Given the description of an element on the screen output the (x, y) to click on. 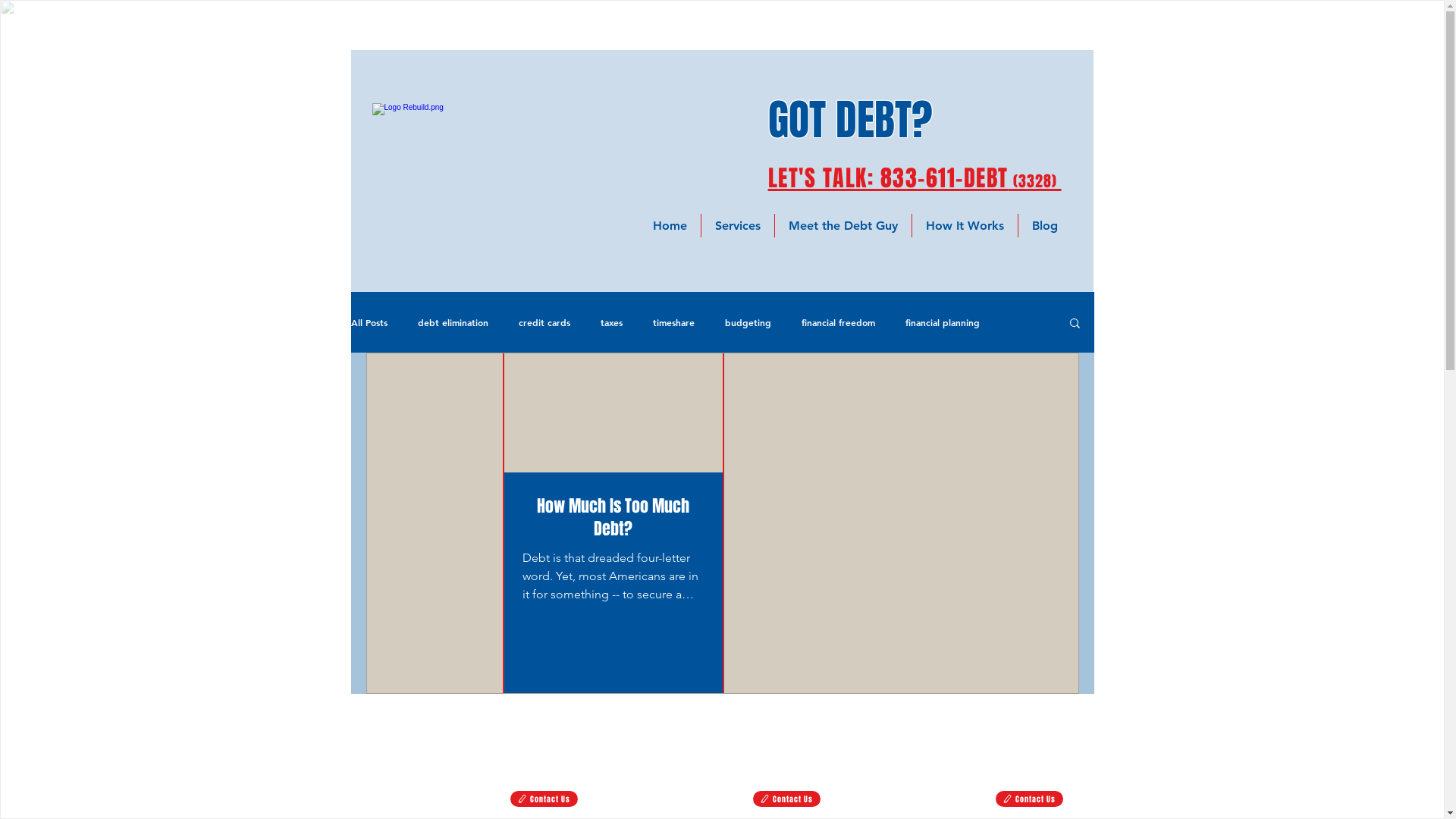
Meet the Debt Guy Element type: text (843, 225)
taxes Element type: text (611, 322)
Blog Element type: text (1044, 225)
Services Element type: text (737, 225)
LET'S TALK: 833-611-DEBT (3328)  Element type: text (913, 177)
debt elimination Element type: text (452, 322)
credit cards Element type: text (544, 322)
How It Works Element type: text (964, 225)
financial freedom Element type: text (837, 322)
Contact Us Element type: text (1028, 798)
timeshare Element type: text (672, 322)
All Posts Element type: text (368, 322)
Contact Us Element type: text (543, 798)
budgeting Element type: text (747, 322)
How Much Is Too Much Debt? Element type: text (612, 517)
Contact Us Element type: text (785, 798)
financial planning Element type: text (942, 322)
Home Element type: text (669, 225)
